Given the description of an element on the screen output the (x, y) to click on. 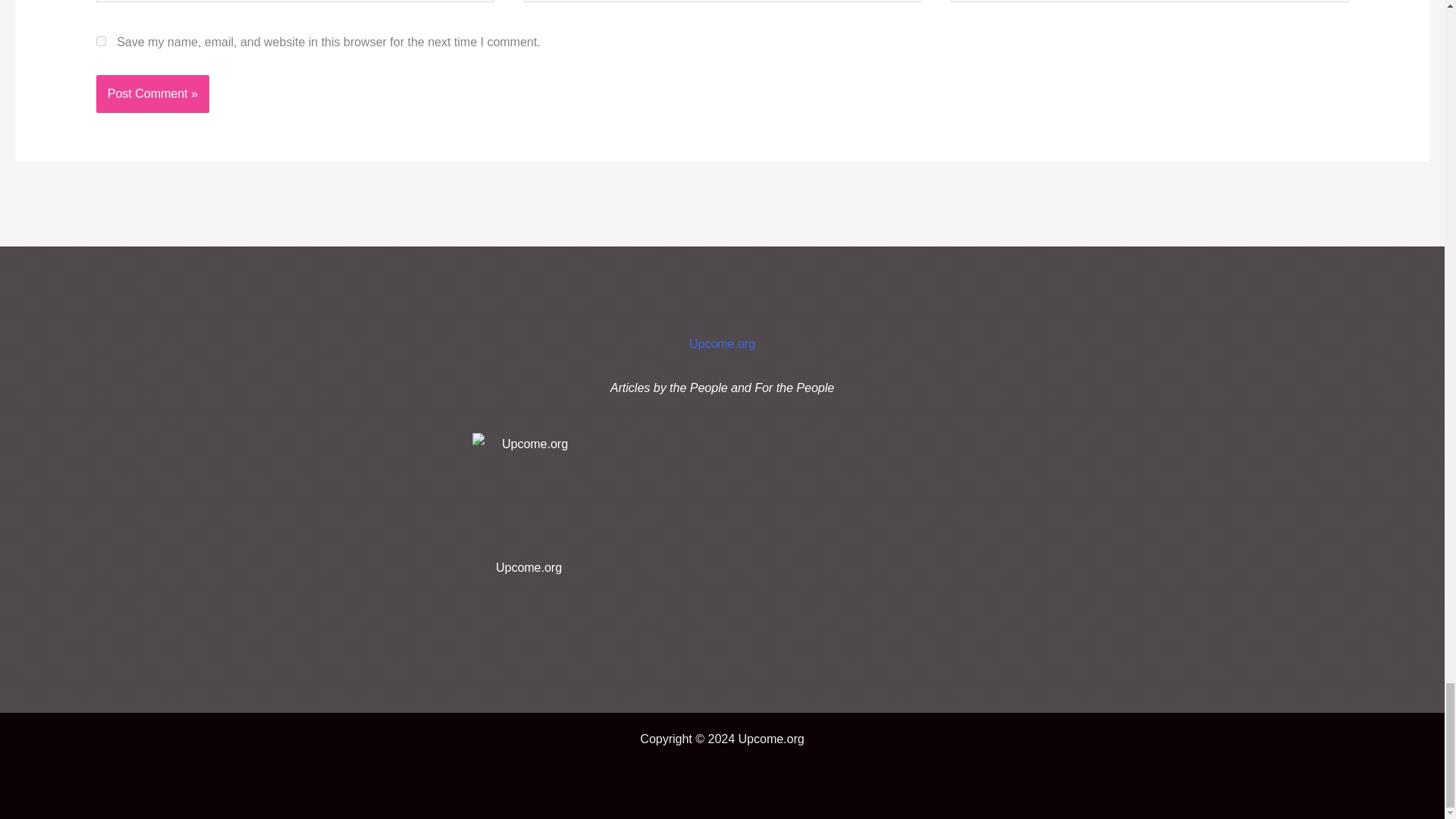
yes (101, 40)
